Given the description of an element on the screen output the (x, y) to click on. 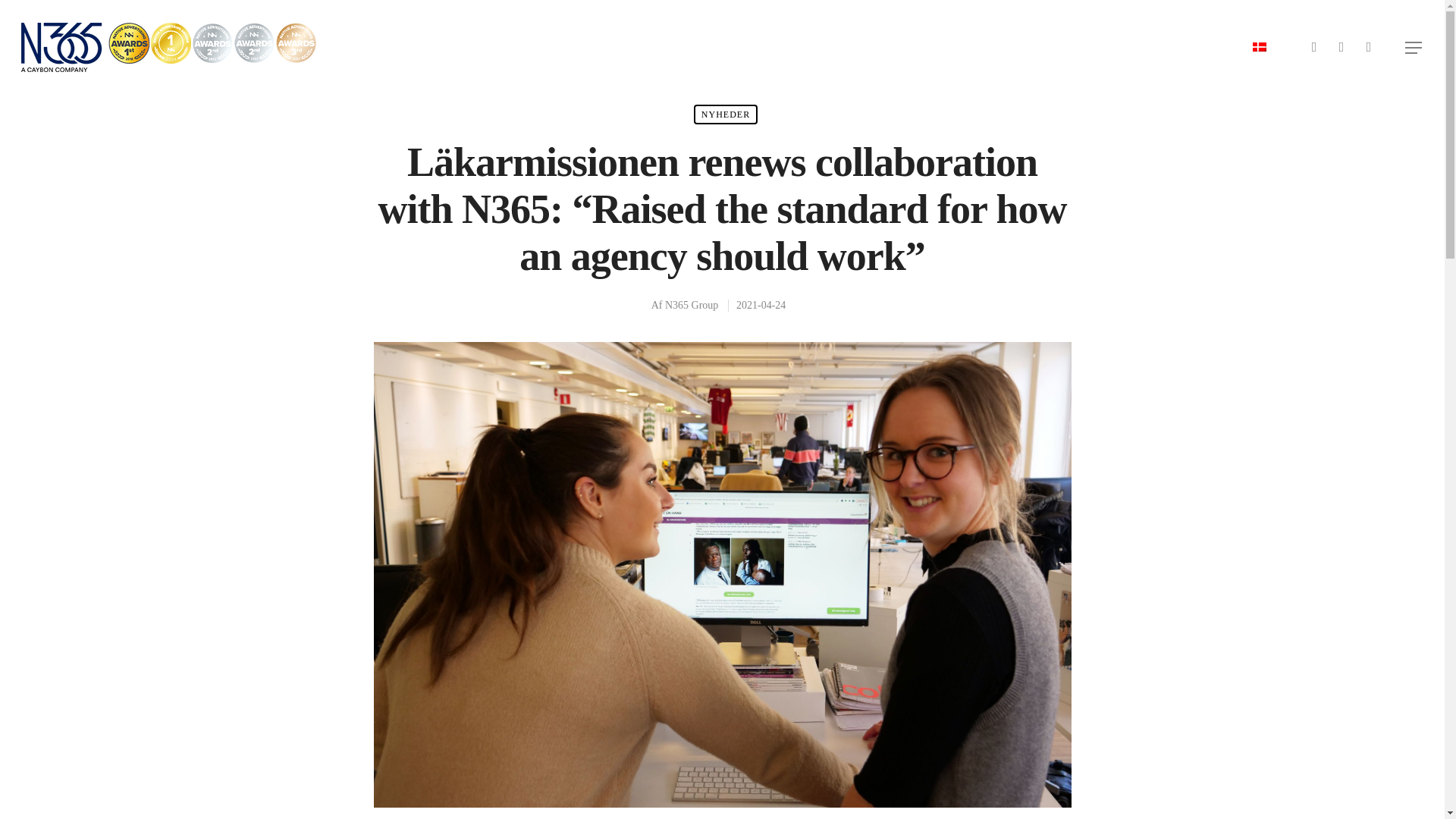
Danish (1259, 46)
N365 Group (691, 305)
NYHEDER (725, 114)
